Given the description of an element on the screen output the (x, y) to click on. 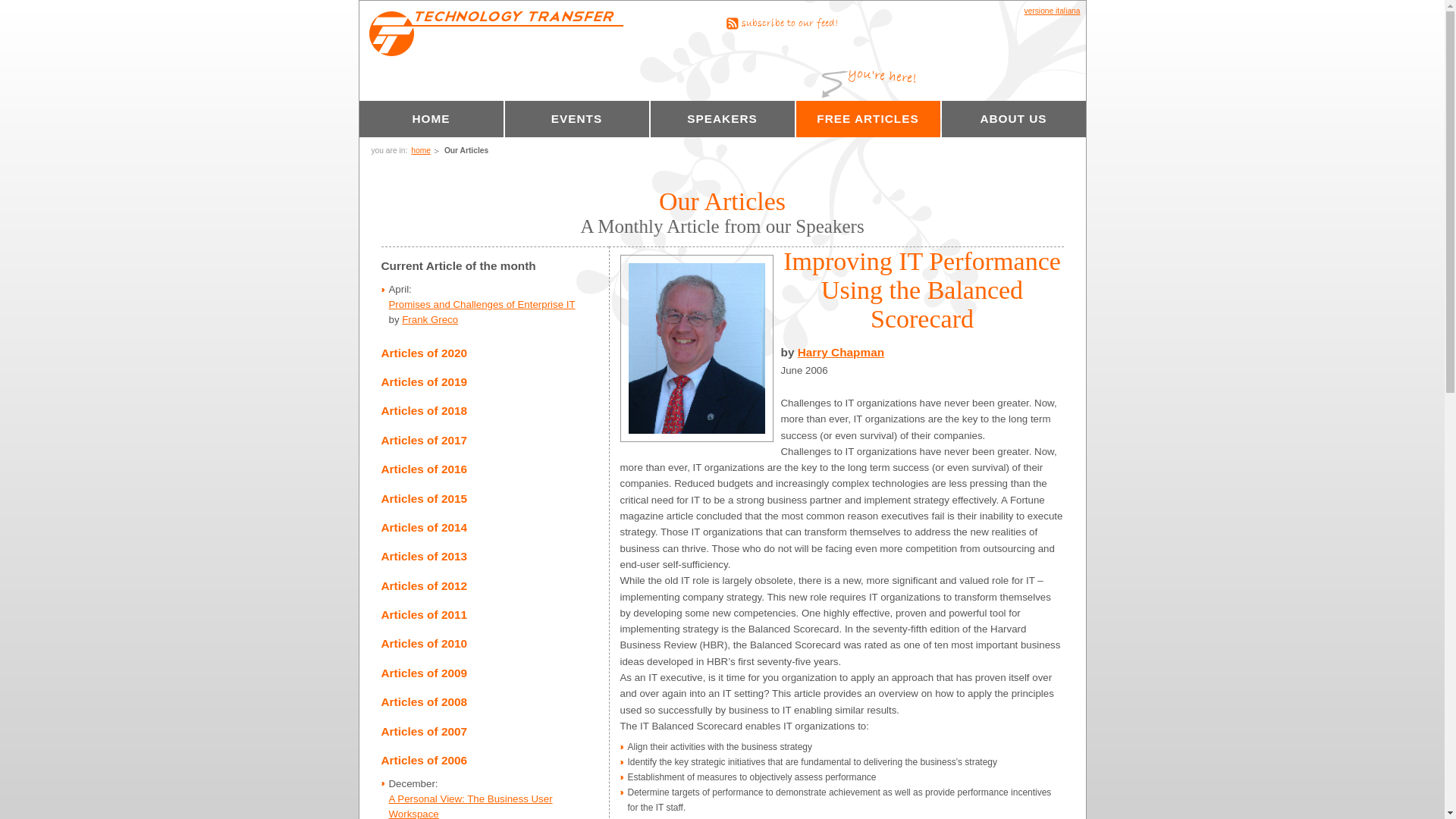
FREE ARTICLES (868, 118)
SPEAKERS (722, 118)
home (420, 150)
Articles of 2018 (423, 410)
Frank Greco (429, 319)
HOME (431, 118)
Promises and Challenges of Enterprise IT (481, 304)
Articles of 2020 (423, 352)
ABOUT US (1014, 118)
Articles of 2019 (423, 381)
